Given the description of an element on the screen output the (x, y) to click on. 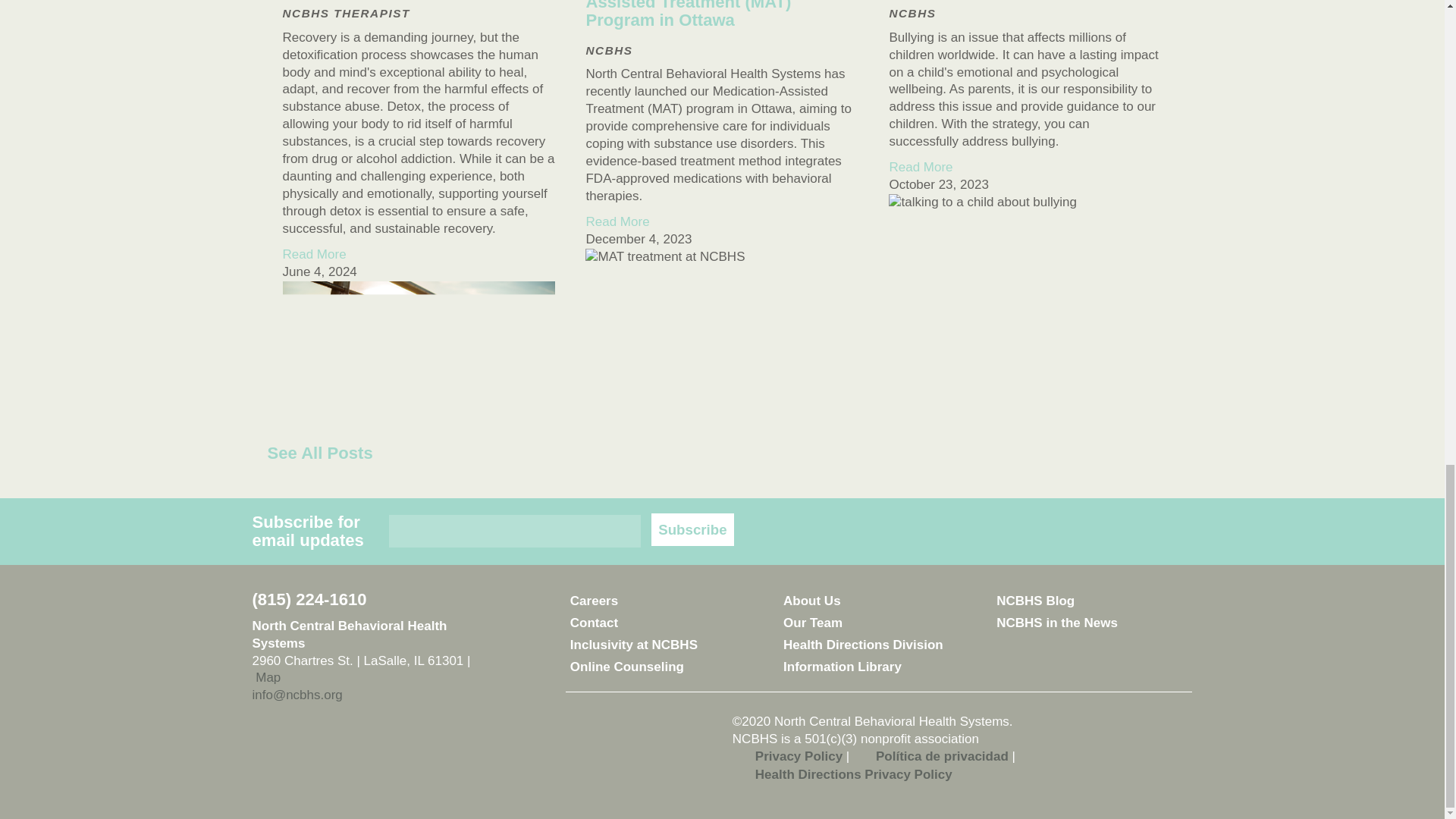
Subscribe (691, 529)
Employment Opportunities at NCBHS (665, 601)
